Given the description of an element on the screen output the (x, y) to click on. 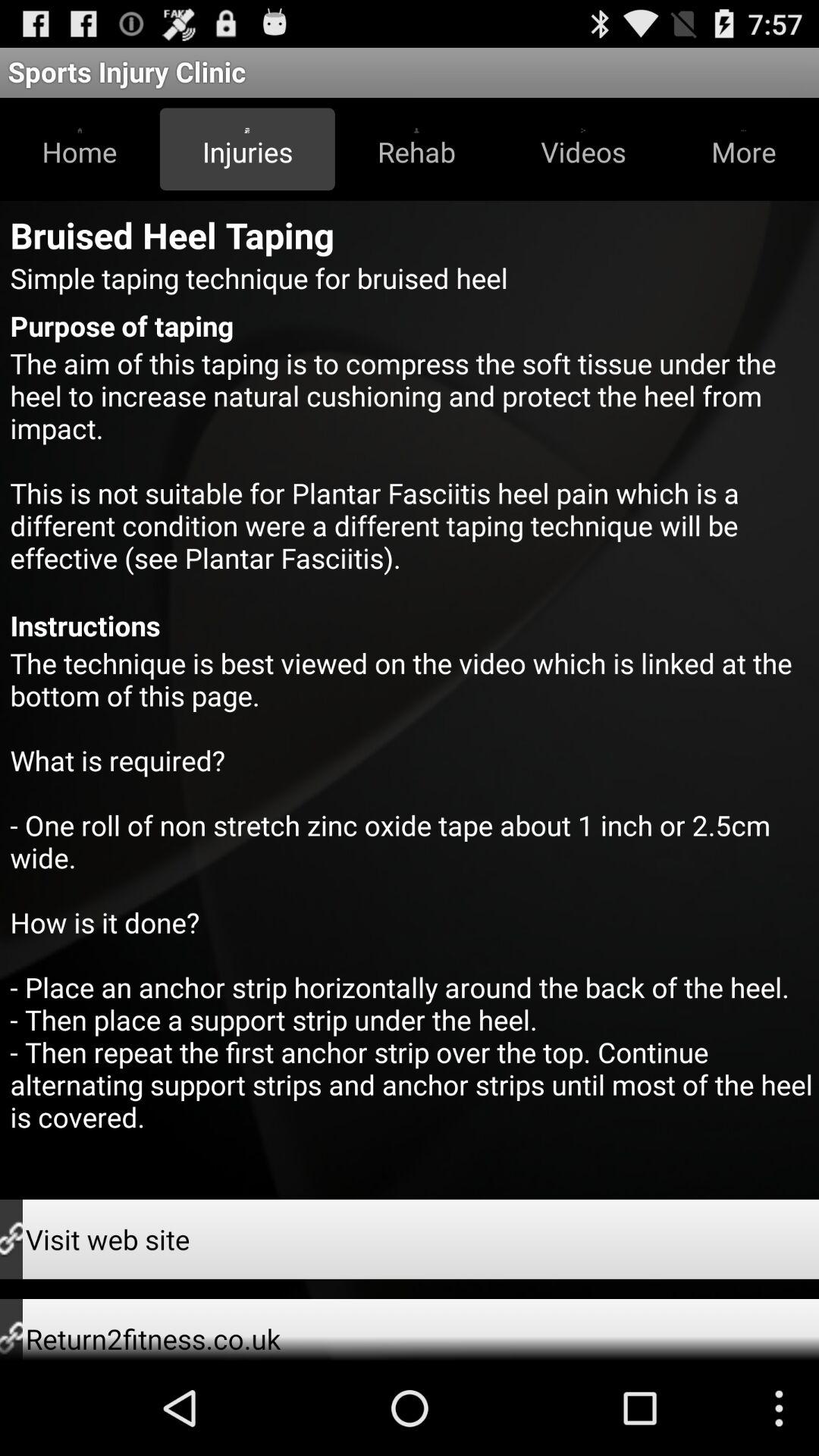
turn on button next to the injuries (416, 149)
